Given the description of an element on the screen output the (x, y) to click on. 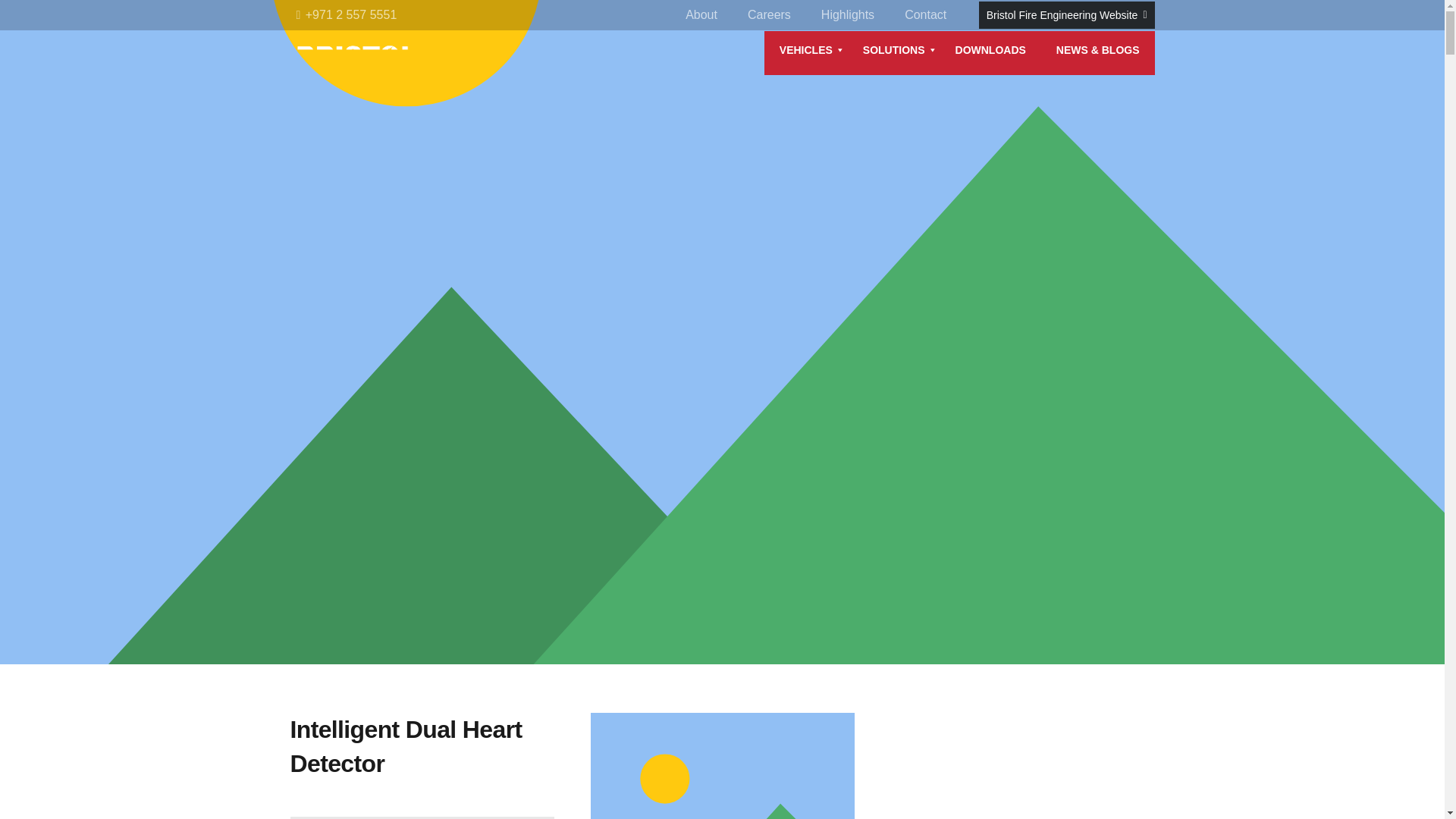
About (700, 17)
Bristol Fire Engineering Website (1066, 15)
Contact (924, 17)
DOWNLOADS (990, 49)
Highlights (847, 17)
Careers (769, 17)
